Given the description of an element on the screen output the (x, y) to click on. 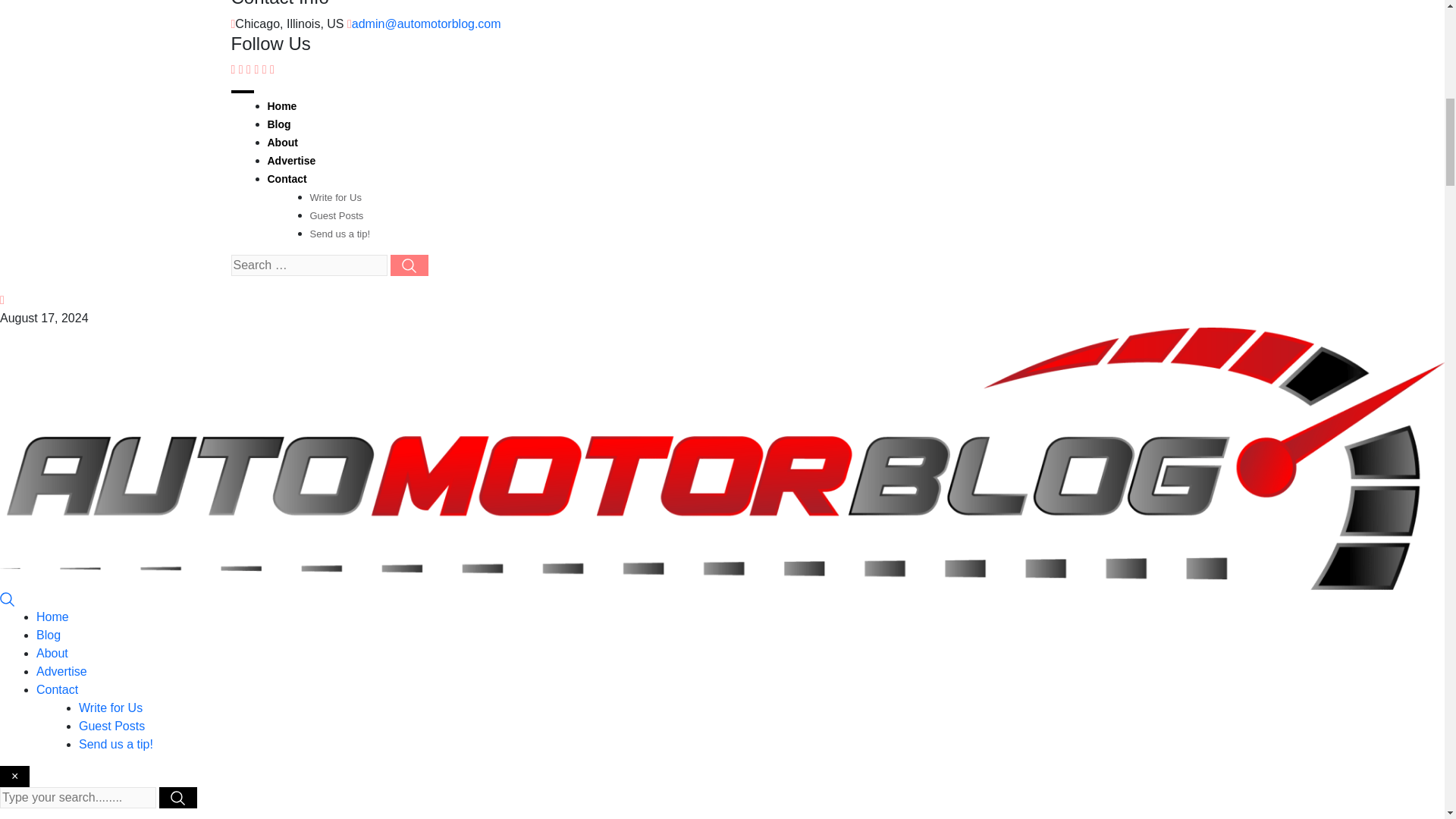
Home (52, 616)
Contact (57, 689)
Blog (277, 123)
Guest Posts (335, 215)
About (52, 653)
Write for Us (110, 707)
Write for Us (334, 197)
Advertise (61, 671)
About (281, 142)
Contact (285, 178)
